Given the description of an element on the screen output the (x, y) to click on. 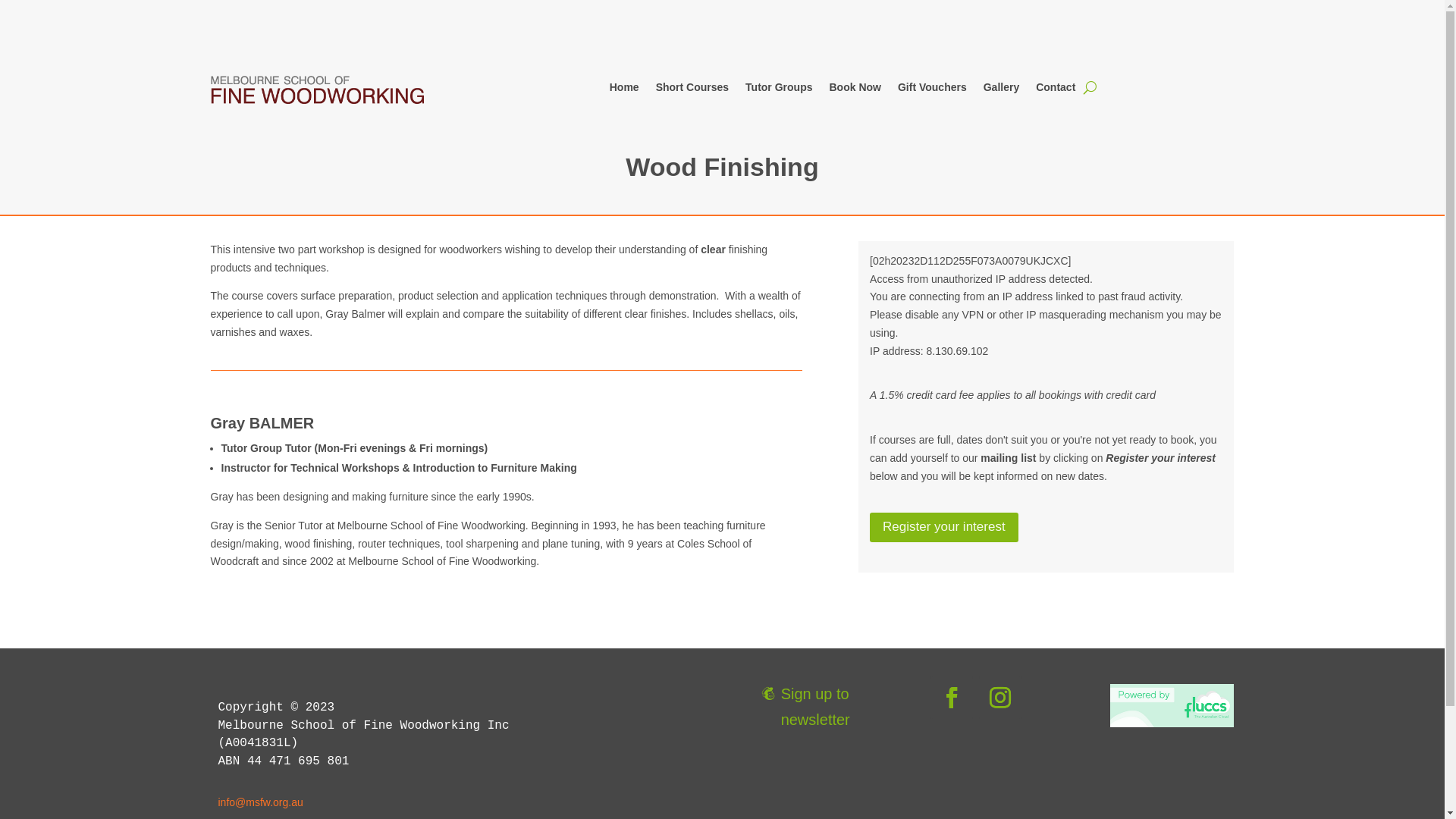
Gift Vouchers Element type: text (931, 89)
Register your interest Element type: text (943, 527)
Contact Element type: text (1055, 89)
Follow on Instagram Element type: hover (1000, 697)
Short Courses Element type: text (691, 89)
info@msfw.org.au Element type: text (260, 802)
Follow on Facebook Element type: hover (951, 697)
Tutor Groups Element type: text (778, 89)
Home Element type: text (624, 89)
Melbourne School Of Fine Woodworking Element type: hover (317, 89)
Book Now Element type: text (855, 89)
Sign up to newsletter Element type: text (812, 706)
Gallery Element type: text (1001, 89)
Fluccs Logo 2022 Element type: hover (1171, 706)
